Given the description of an element on the screen output the (x, y) to click on. 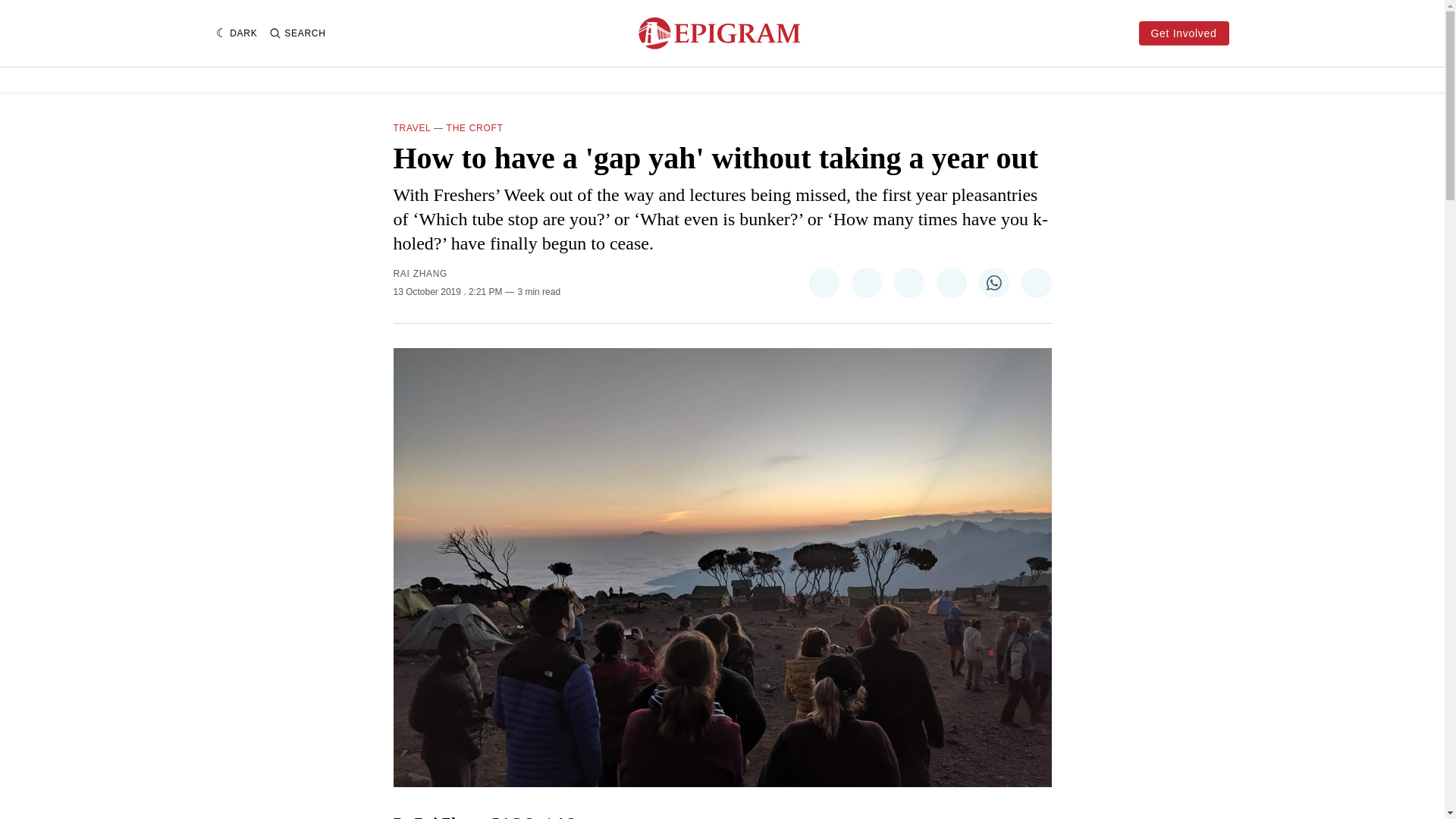
DARK (236, 32)
TRAVEL (411, 127)
Share on Twitter (823, 282)
THE CROFT (474, 127)
Get Involved (1183, 33)
Share on Pinterest (908, 282)
Share on Facebook (865, 282)
Share on LinkedIn (951, 282)
Share on WhatsApp (993, 282)
Share via Email (1035, 282)
SEARCH (296, 33)
RAI ZHANG (419, 273)
